Given the description of an element on the screen output the (x, y) to click on. 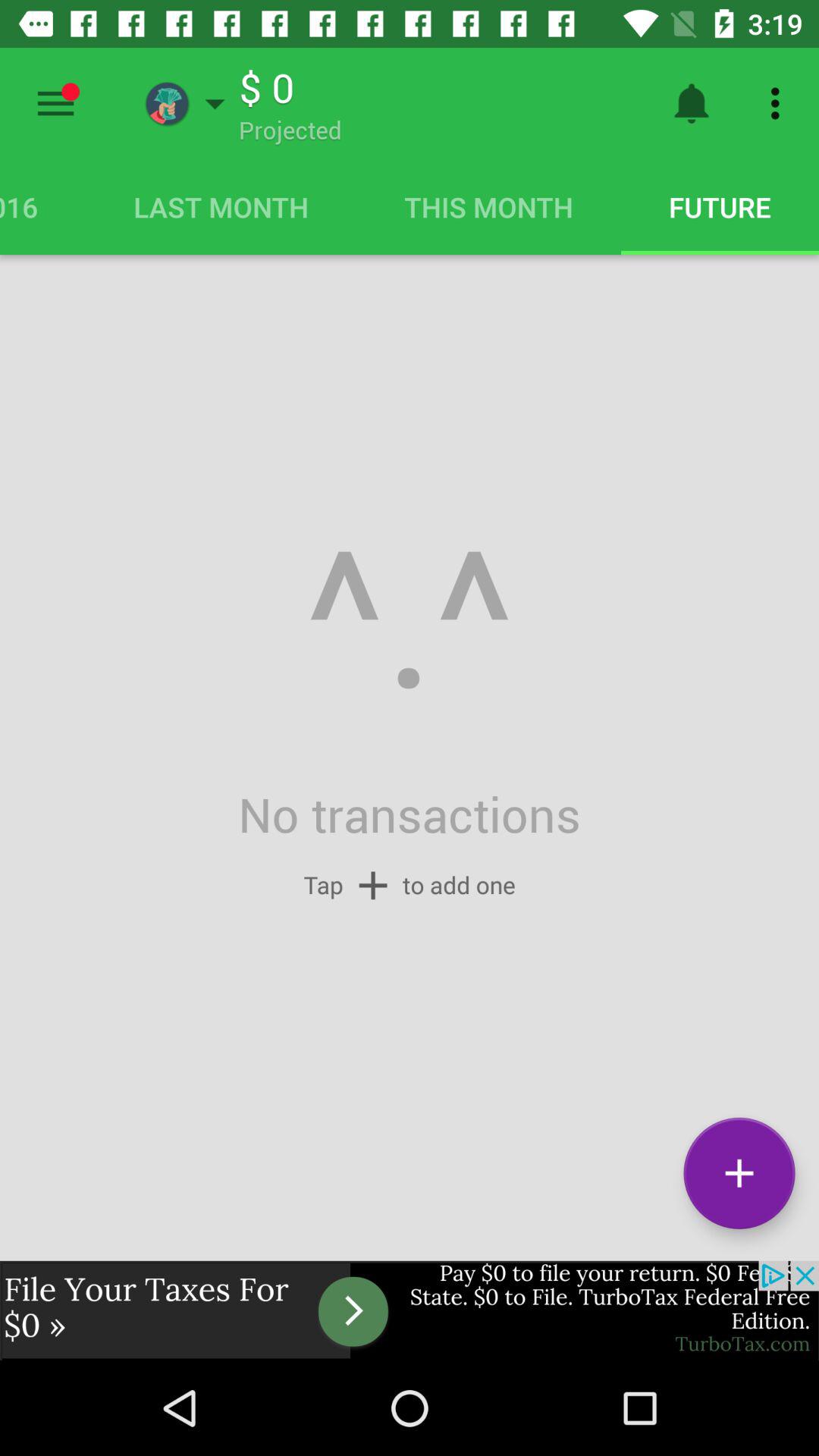
advertisement (409, 1310)
